Given the description of an element on the screen output the (x, y) to click on. 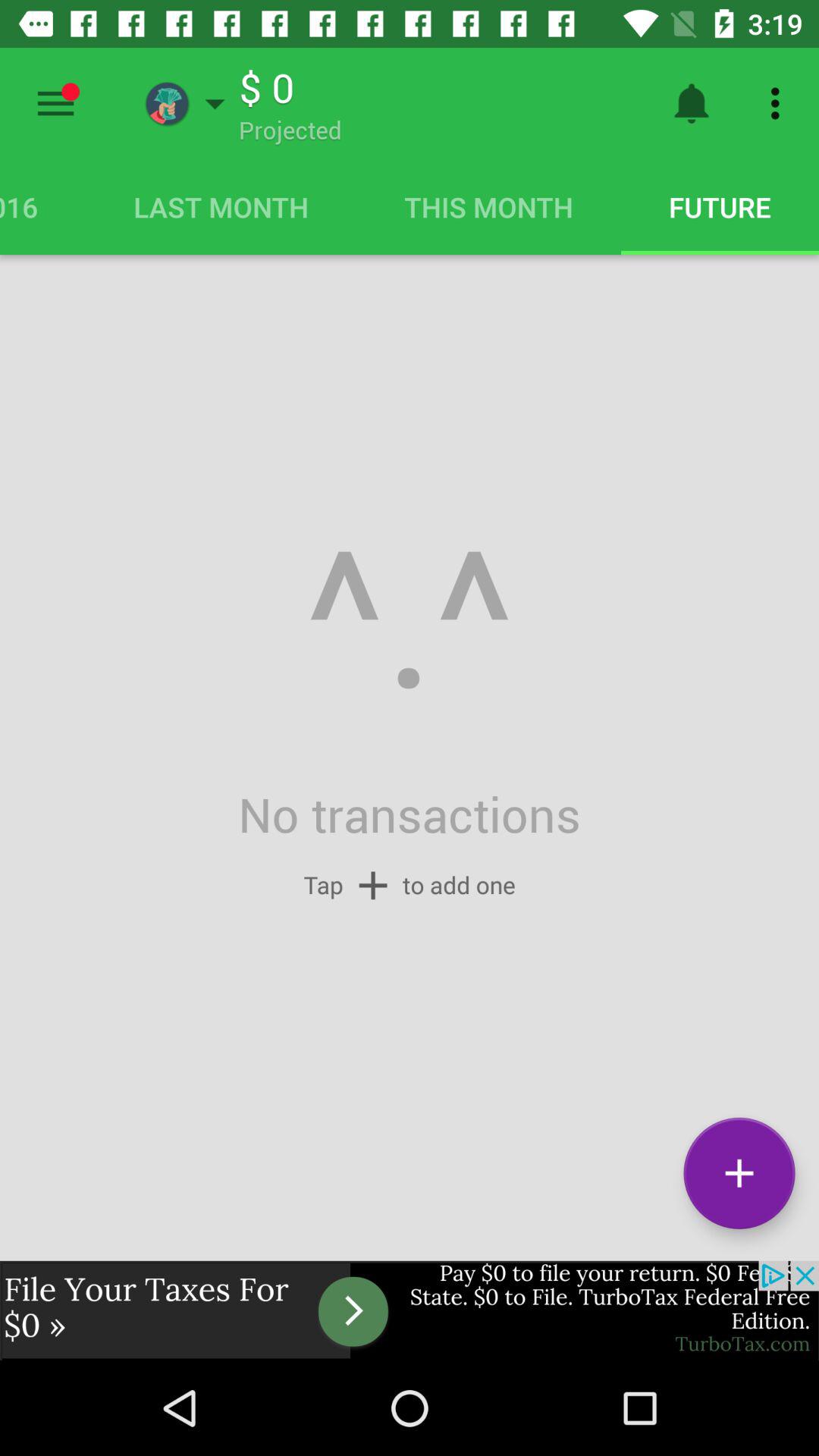
advertisement (409, 1310)
